Given the description of an element on the screen output the (x, y) to click on. 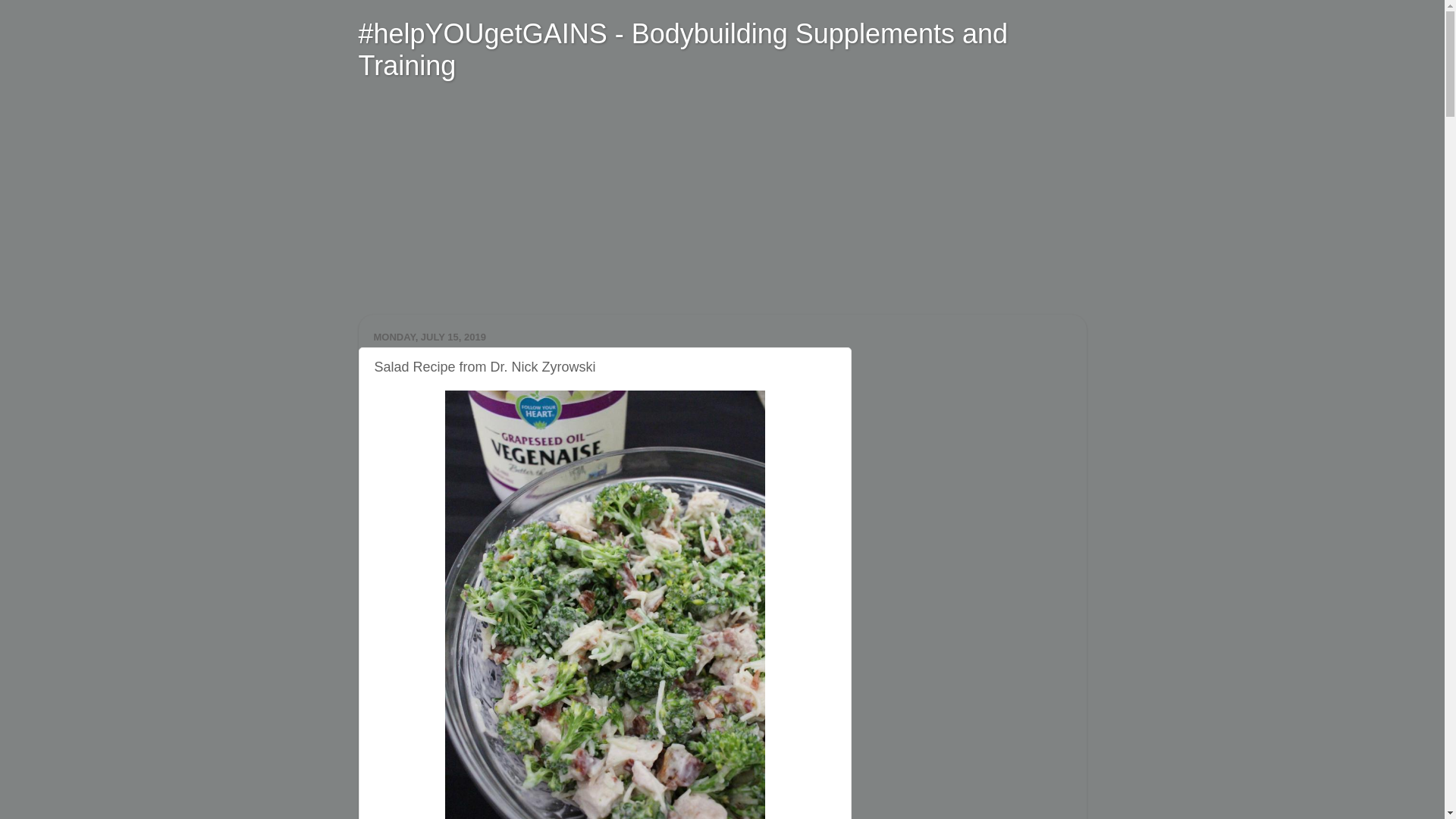
Advertisement (499, 205)
